Given the description of an element on the screen output the (x, y) to click on. 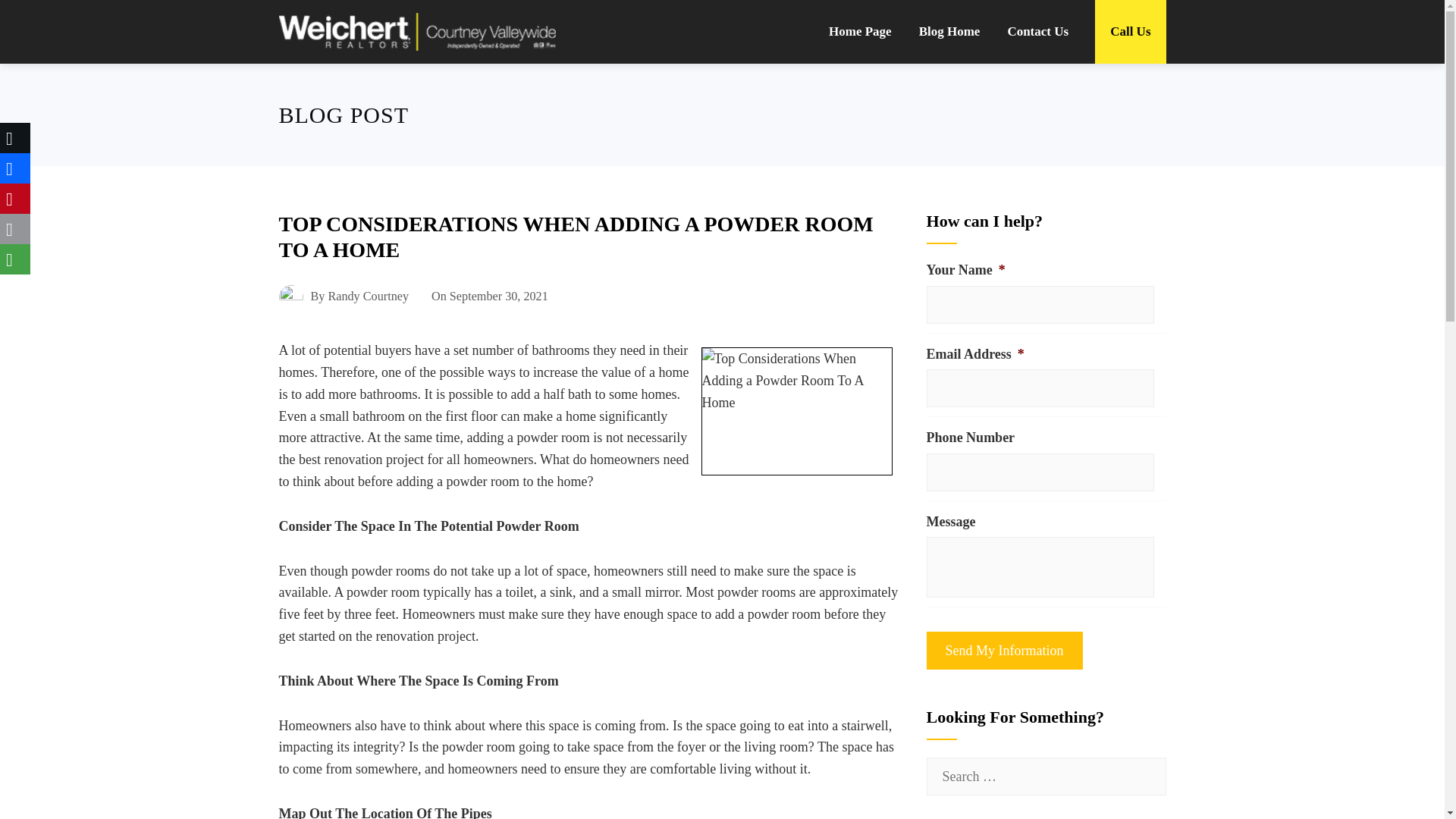
Send My Information (1004, 650)
Blog Home (949, 31)
Facebook (15, 168)
Email This (15, 228)
Call Us (1130, 31)
Home Page (859, 31)
More Options (15, 259)
Contact Us (1037, 31)
Search (37, 18)
Pinterest (15, 198)
Send My Information (1004, 650)
